Given the description of an element on the screen output the (x, y) to click on. 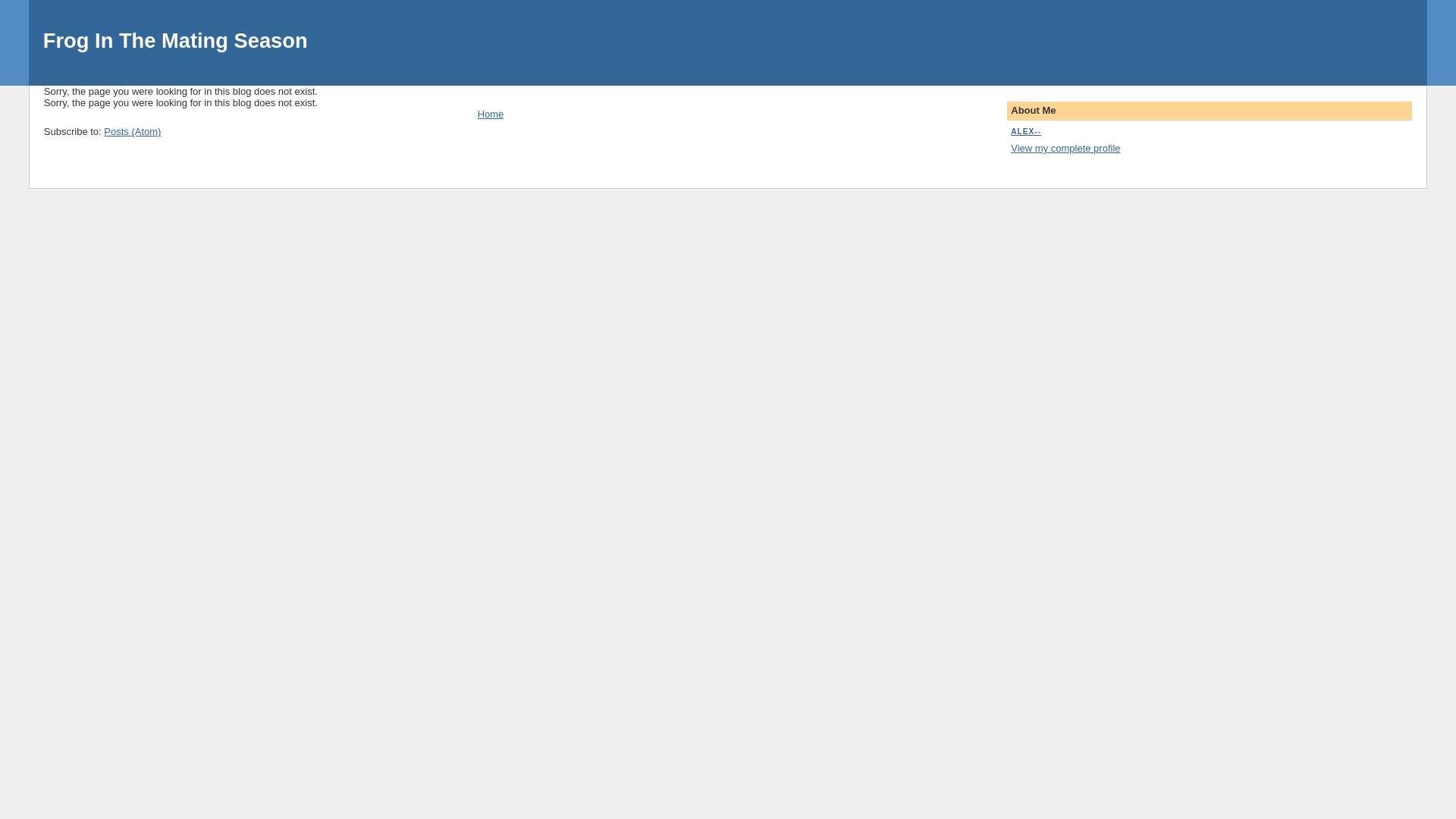
Posts (Atom) Element type: text (131, 131)
Frog In The Mating Season Element type: text (175, 40)
View my complete profile Element type: text (1065, 147)
Home Element type: text (490, 113)
ALEX-- Element type: text (1025, 131)
